Given the description of an element on the screen output the (x, y) to click on. 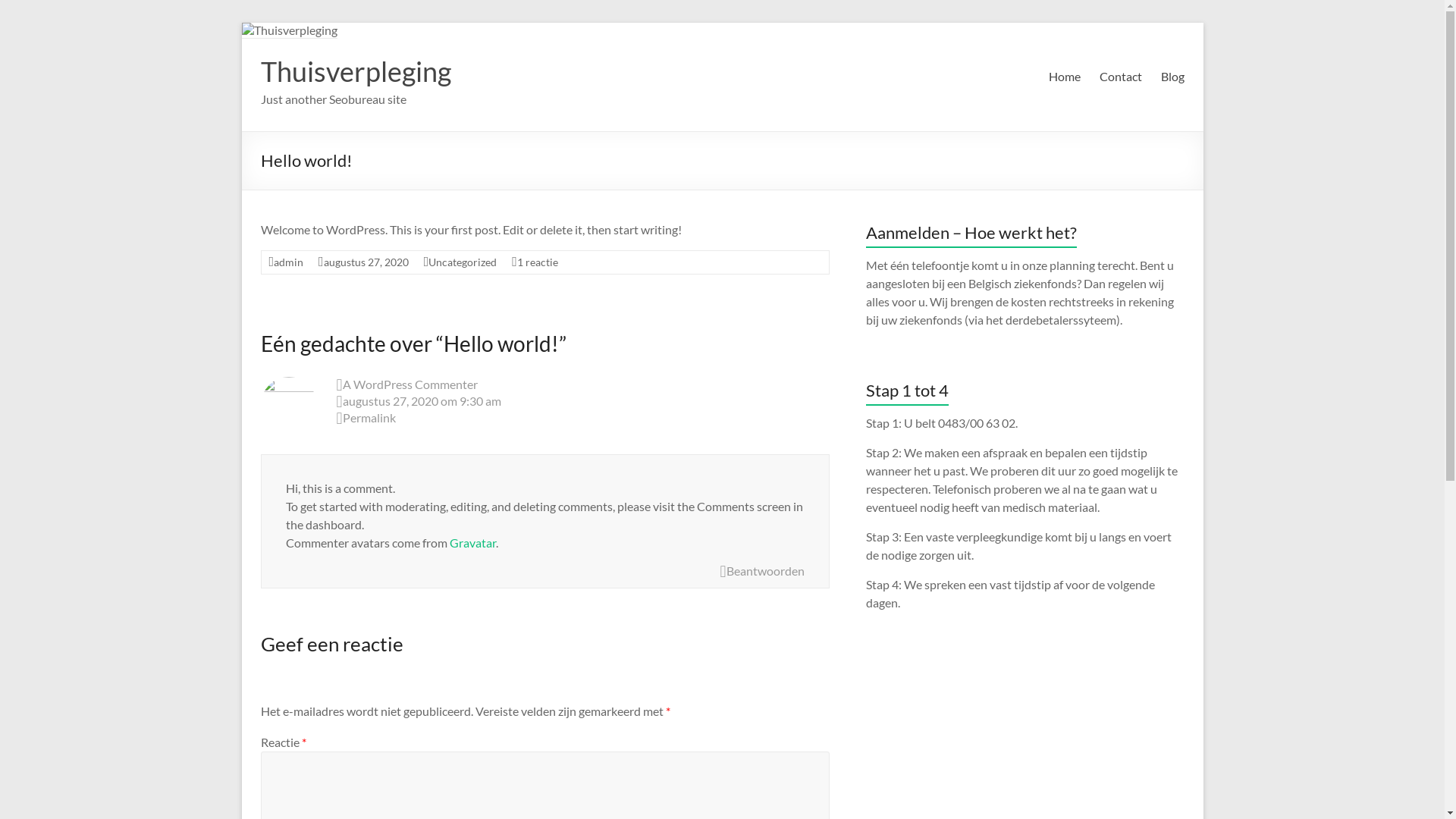
Contact Element type: text (1120, 76)
Beantwoorden Element type: text (761, 571)
Permalink Element type: text (582, 418)
1 reactie Element type: text (537, 261)
admin Element type: text (288, 261)
Blog Element type: text (1171, 76)
Home Element type: text (1063, 76)
Ga naar inhoud Element type: text (241, 21)
augustus 27, 2020 Element type: text (365, 261)
A WordPress Commenter Element type: text (409, 383)
Uncategorized Element type: text (462, 261)
Gravatar Element type: text (471, 542)
Thuisverpleging Element type: text (355, 70)
